Given the description of an element on the screen output the (x, y) to click on. 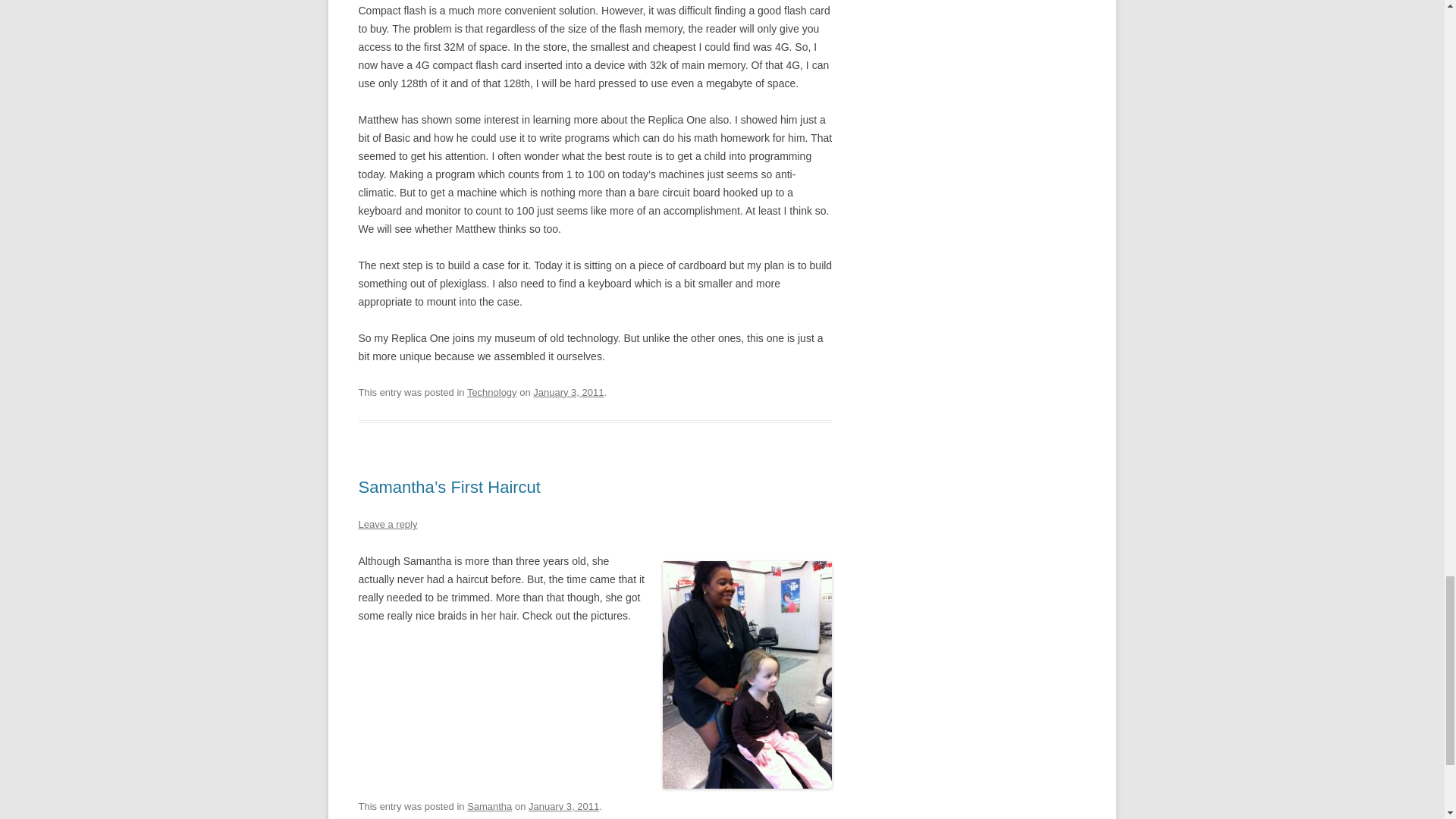
8:38 pm (568, 392)
Samantha (489, 806)
Technology (491, 392)
January 3, 2011 (563, 806)
Leave a reply (387, 523)
January 3, 2011 (568, 392)
7:44 pm (563, 806)
